Given the description of an element on the screen output the (x, y) to click on. 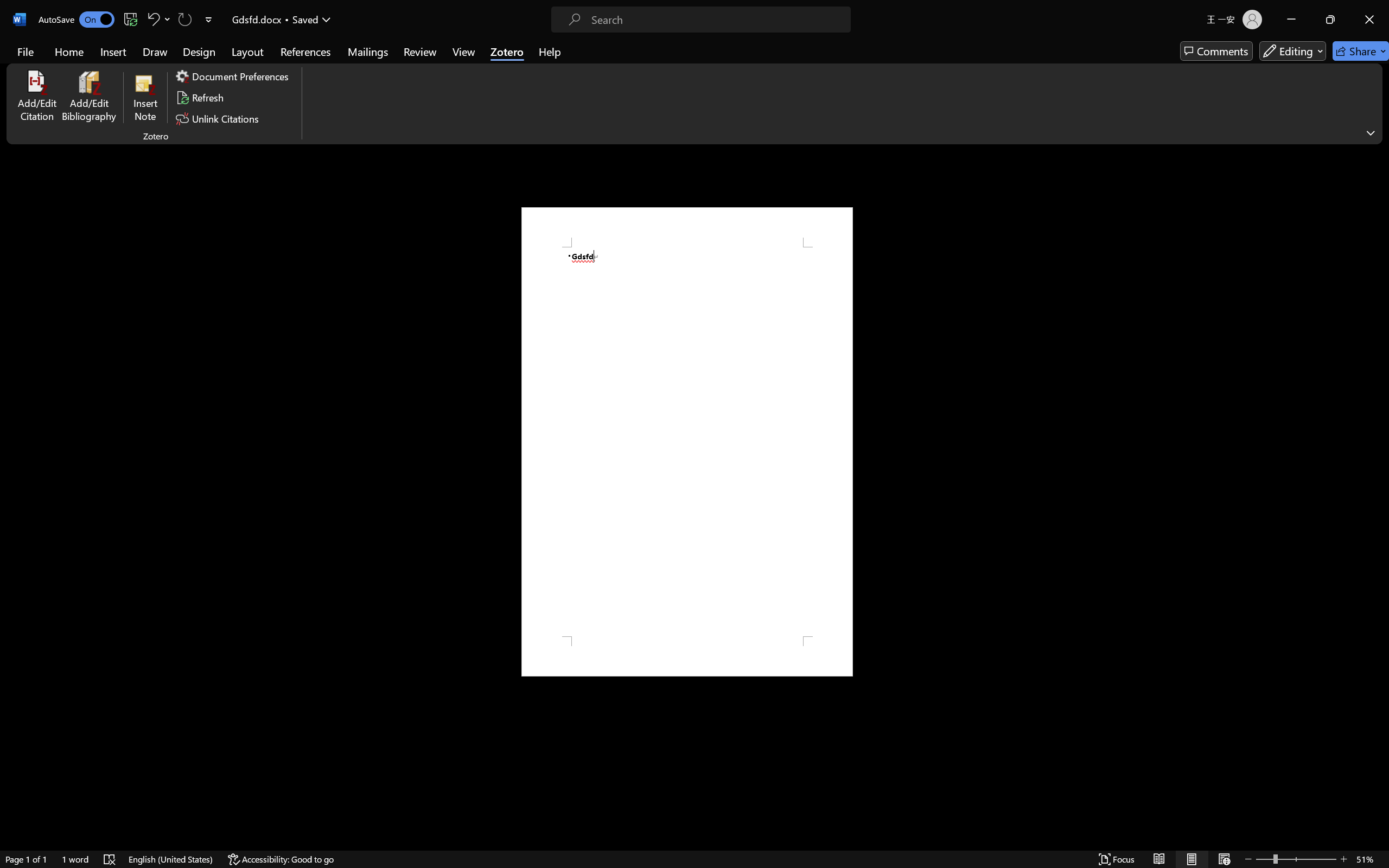
Page 1 content (686, 441)
